Given the description of an element on the screen output the (x, y) to click on. 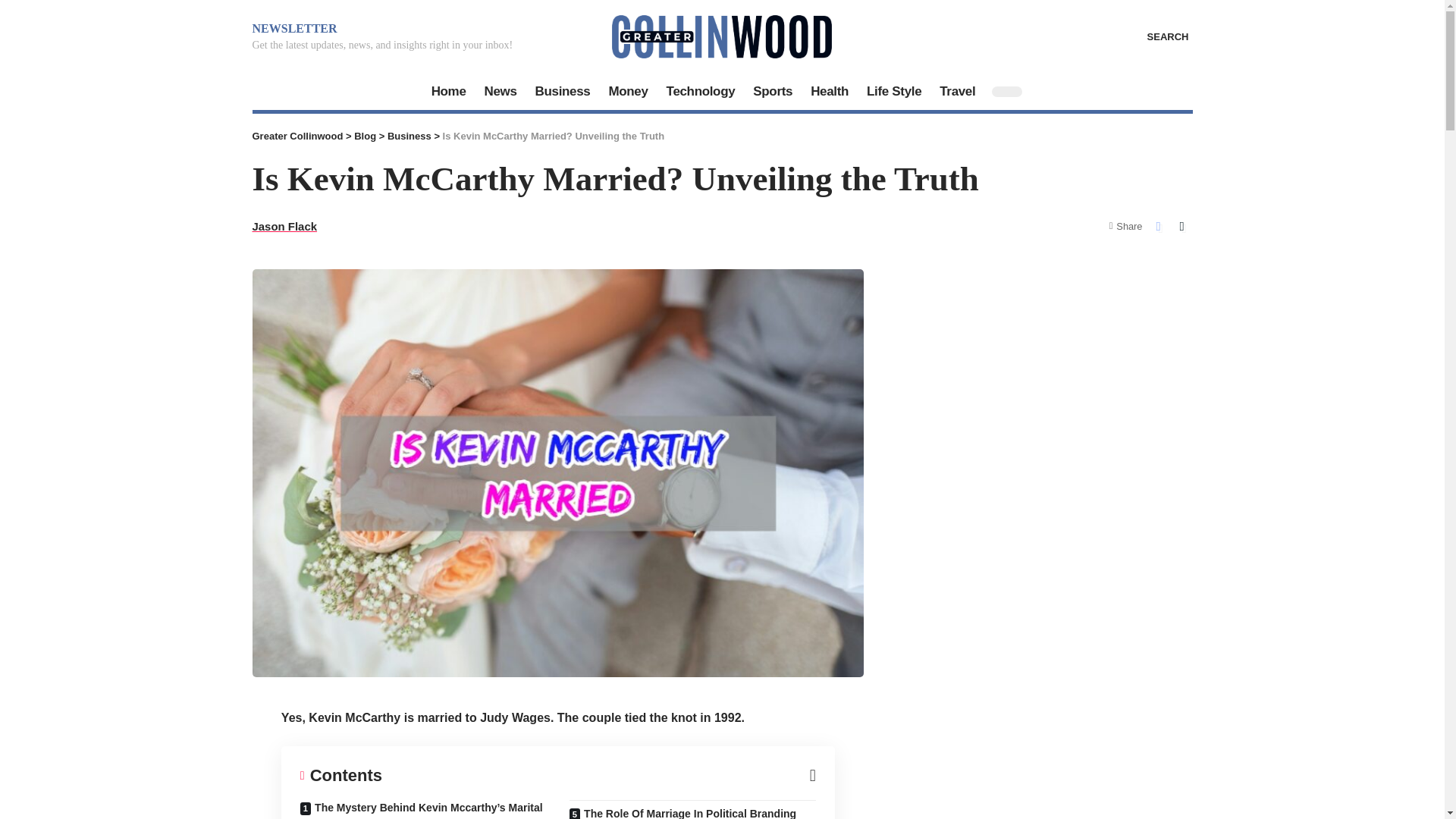
Business (562, 91)
Travel (957, 91)
Technology (701, 91)
Home (449, 91)
SEARCH (1157, 36)
Sports (773, 91)
News (500, 91)
Money (627, 91)
Go to the Business Category archives. (408, 135)
Health (829, 91)
